Given the description of an element on the screen output the (x, y) to click on. 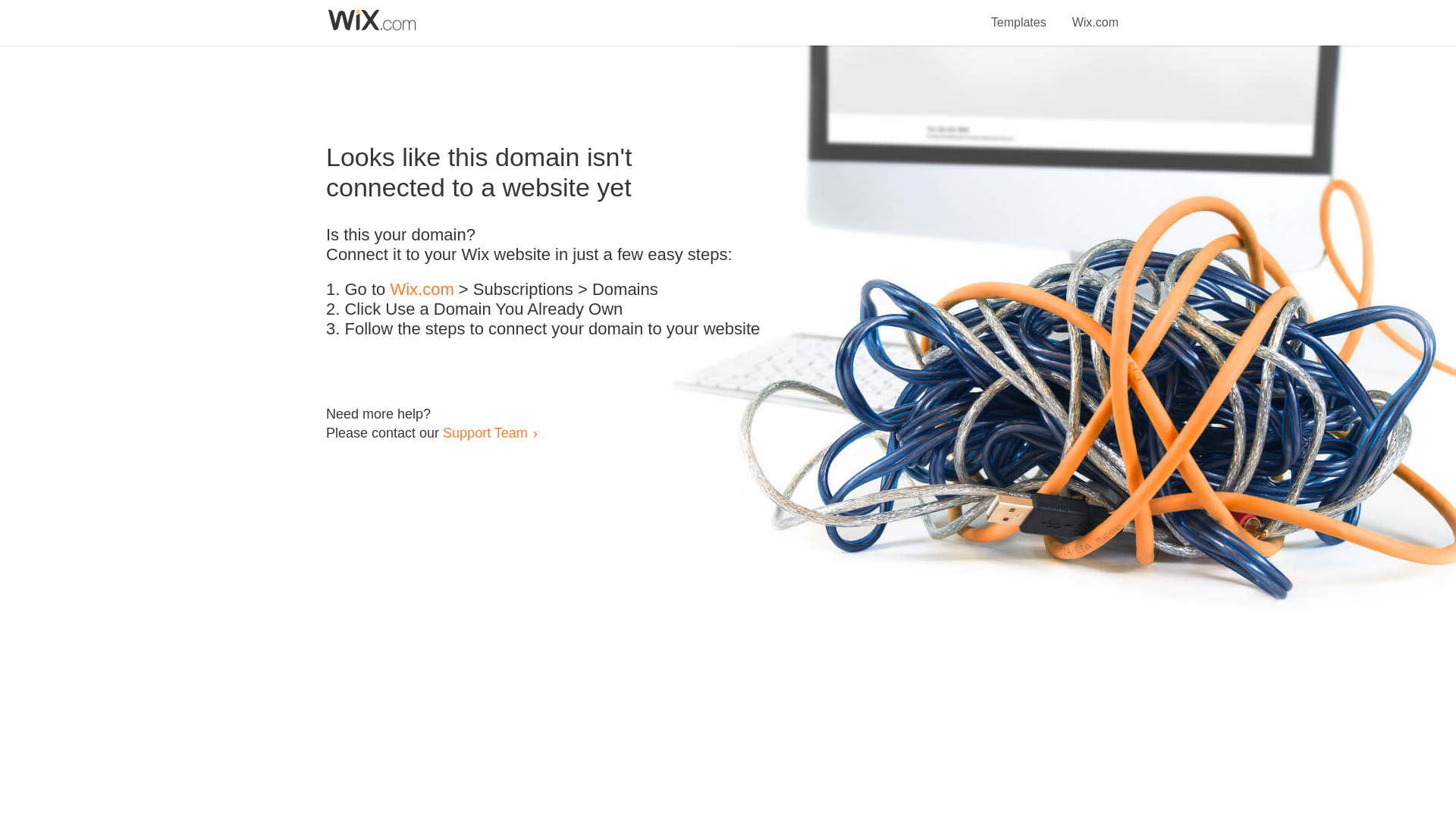
Support Team (484, 432)
Templates (1018, 14)
Wix.com (1095, 14)
Wix.com (421, 289)
